Given the description of an element on the screen output the (x, y) to click on. 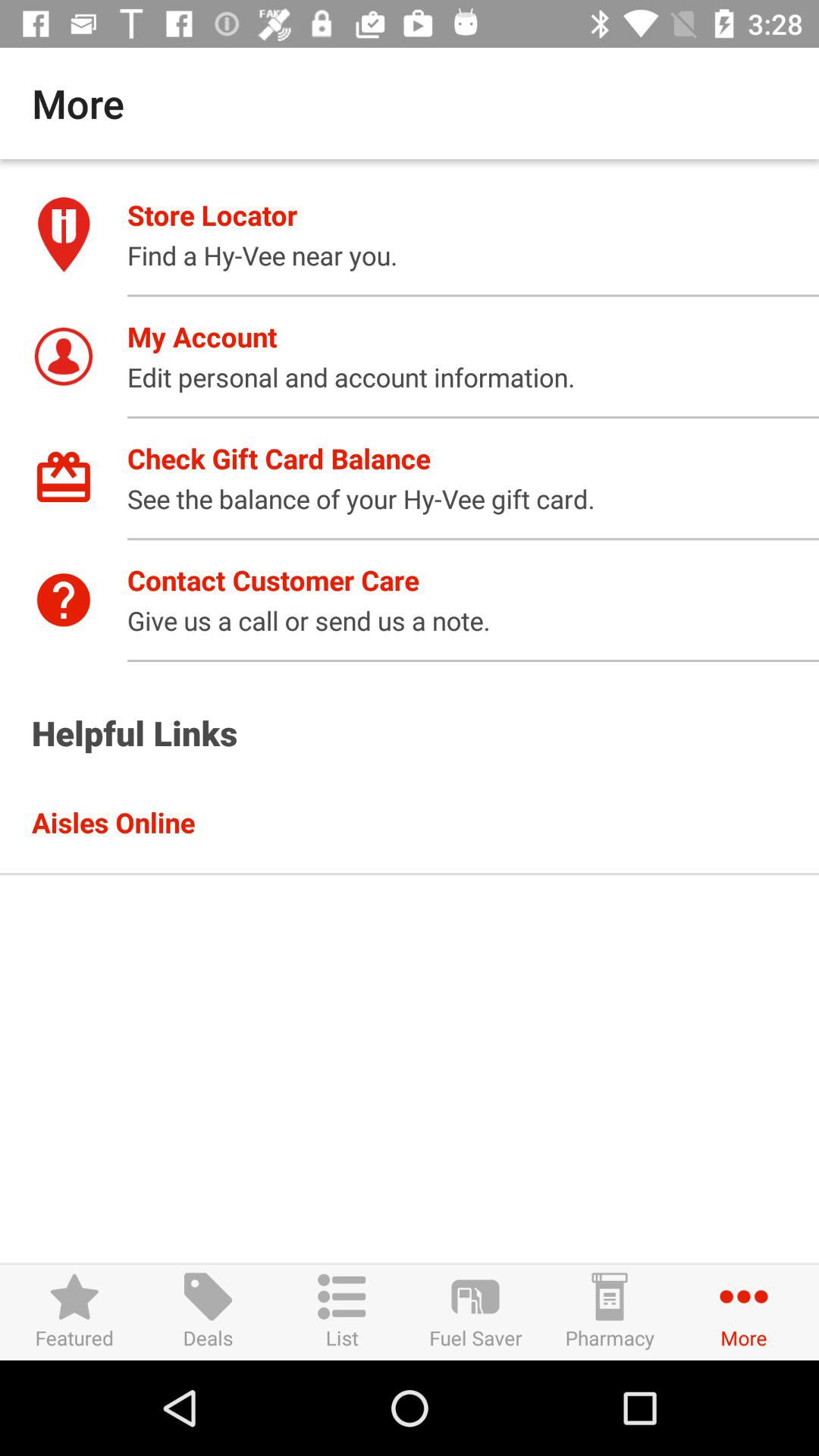
tap the icon next to fuel saver icon (341, 1311)
